Given the description of an element on the screen output the (x, y) to click on. 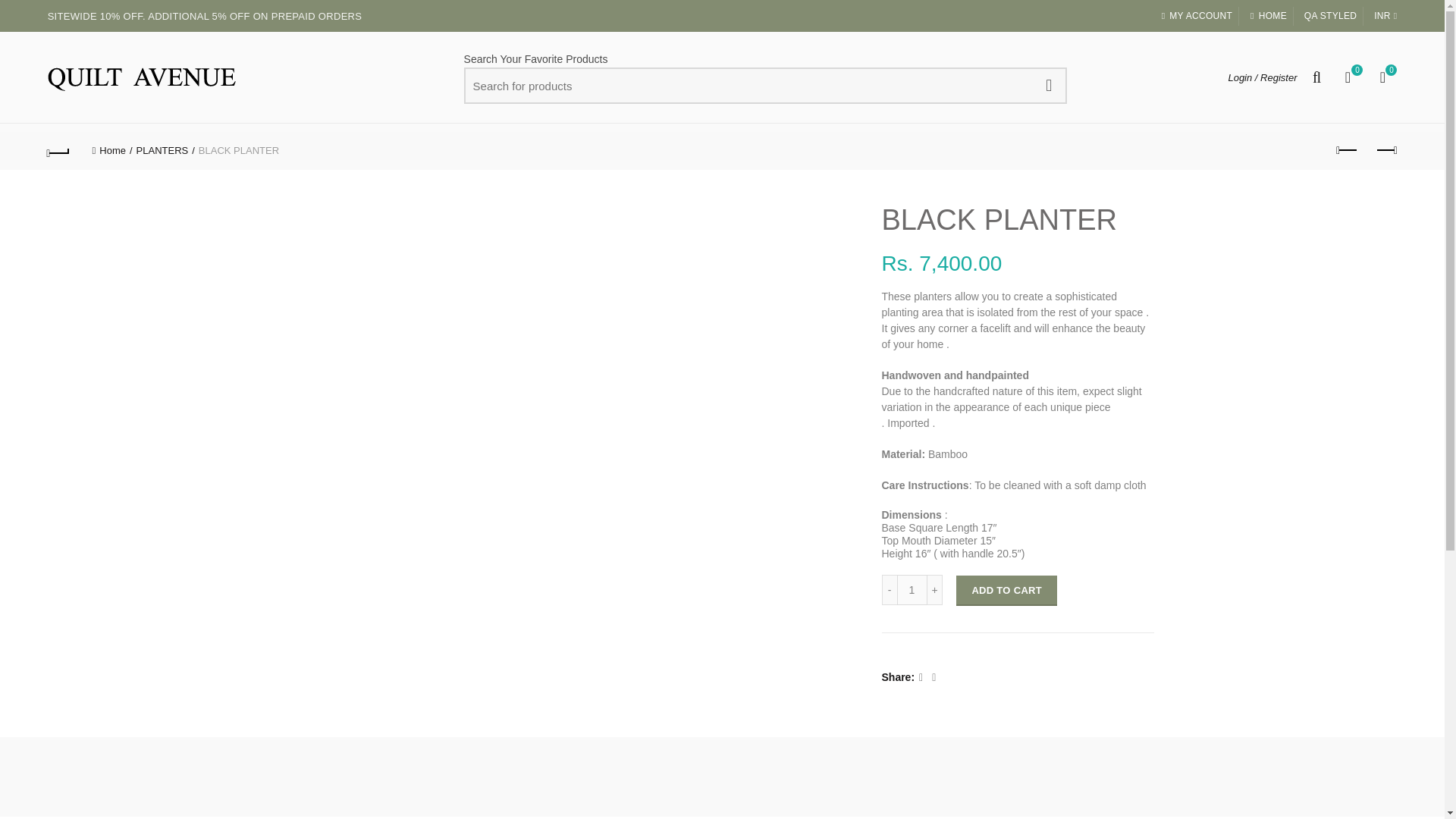
TABLE TOP (852, 142)
1 (911, 589)
Qty (911, 589)
Home (112, 150)
0 (1383, 77)
SALE (1347, 77)
PLANTERS (1025, 142)
QA STYLED (550, 142)
WICKER WEAVES (1330, 15)
HOME ACCENTS (947, 142)
MY ACCOUNT (639, 142)
HOME (1195, 15)
SEARCH (1268, 15)
Back (1048, 85)
